Given the description of an element on the screen output the (x, y) to click on. 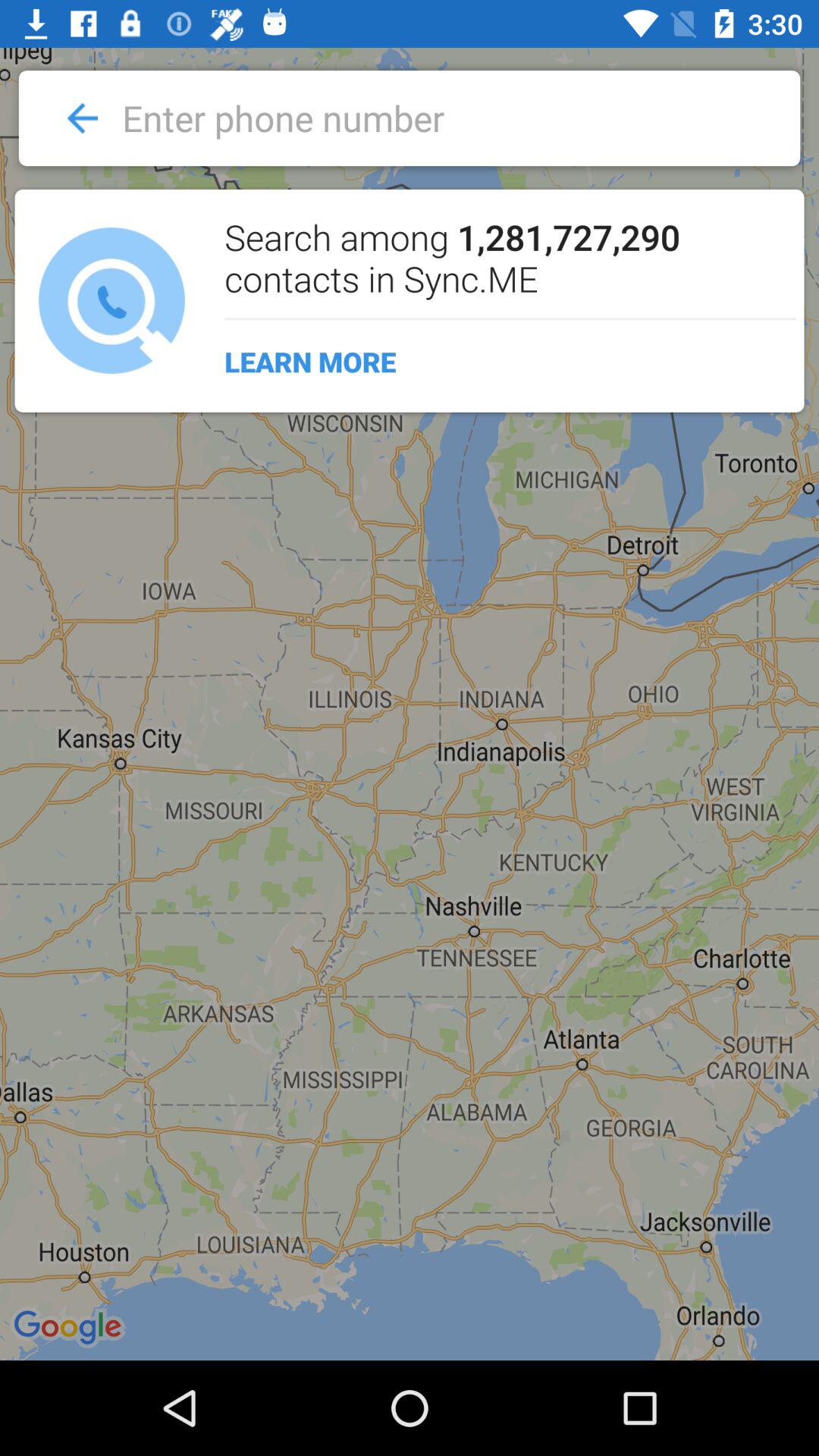
turn on learn more (502, 361)
